Given the description of an element on the screen output the (x, y) to click on. 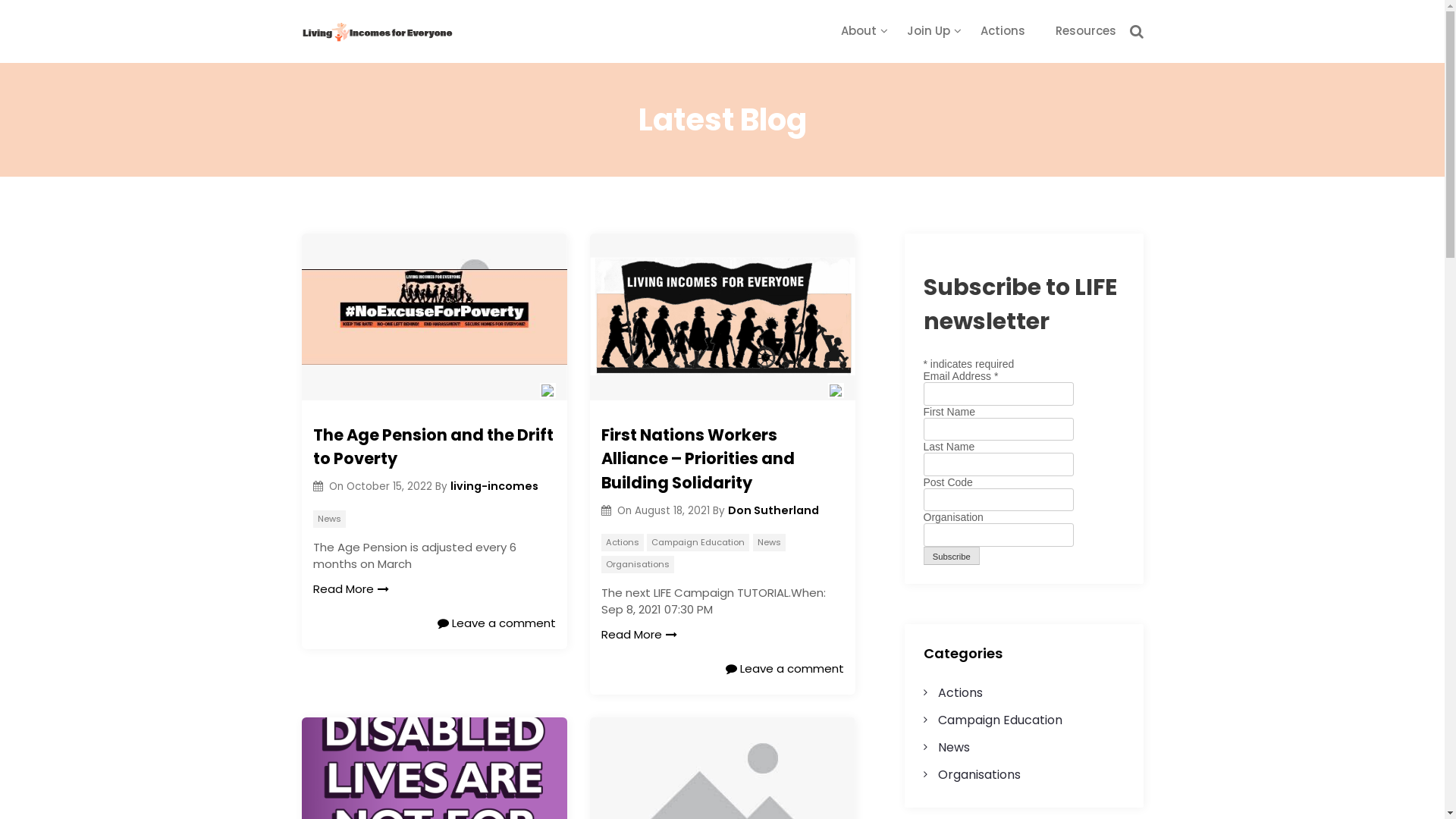
Actions Element type: text (1001, 30)
Campaign Education Element type: text (697, 542)
Subscribe Element type: text (951, 555)
Actions Element type: text (621, 542)
October 15, 2022 Element type: text (390, 486)
Circular focus Element type: text (1443, 162)
Read More Element type: text (638, 634)
Resources Element type: text (1085, 30)
The Age Pension and the Drift to Poverty Element type: text (433, 446)
Don Sutherland Element type: text (773, 509)
Join Up Element type: text (928, 30)
Leave a comment Element type: text (495, 622)
Leave a comment Element type: text (783, 668)
Organisations Element type: text (636, 564)
Read More Element type: text (350, 589)
News Element type: text (768, 542)
News Element type: text (953, 747)
News Element type: text (328, 518)
Campaign Education Element type: text (1000, 719)
August 18, 2021 Element type: text (673, 510)
Living Incomes For Everyone Element type: text (423, 55)
Organisations Element type: text (979, 774)
living-incomes Element type: text (494, 485)
Actions Element type: text (960, 692)
About Element type: text (857, 30)
